Given the description of an element on the screen output the (x, y) to click on. 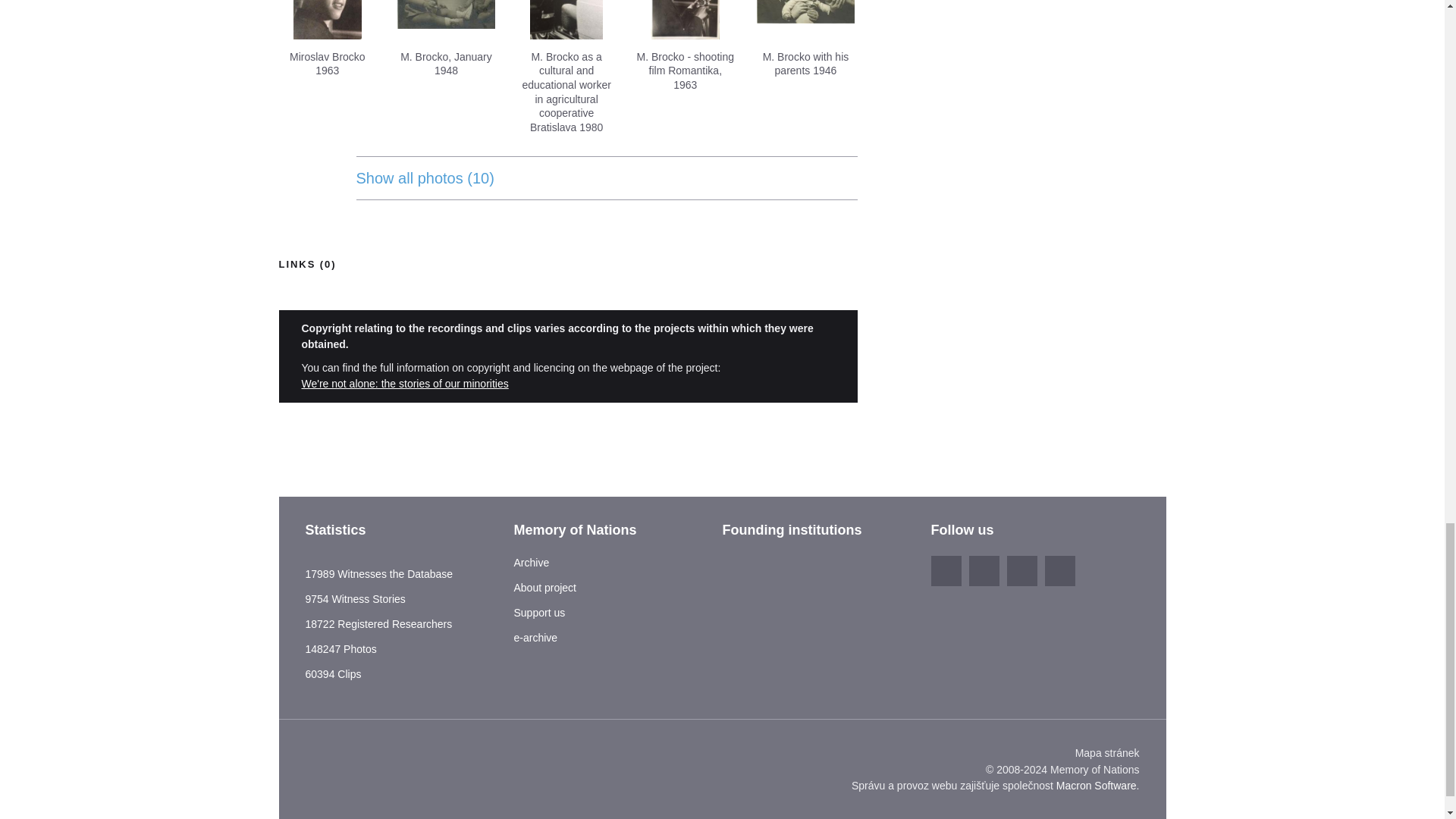
M. Brocko, January 1948 (446, 19)
M. Brocko - shooting film Romantika,  1963 (684, 19)
Miroslav Brocko 1963 (328, 19)
M. Brocko with his parents 1946  (805, 19)
